Given the description of an element on the screen output the (x, y) to click on. 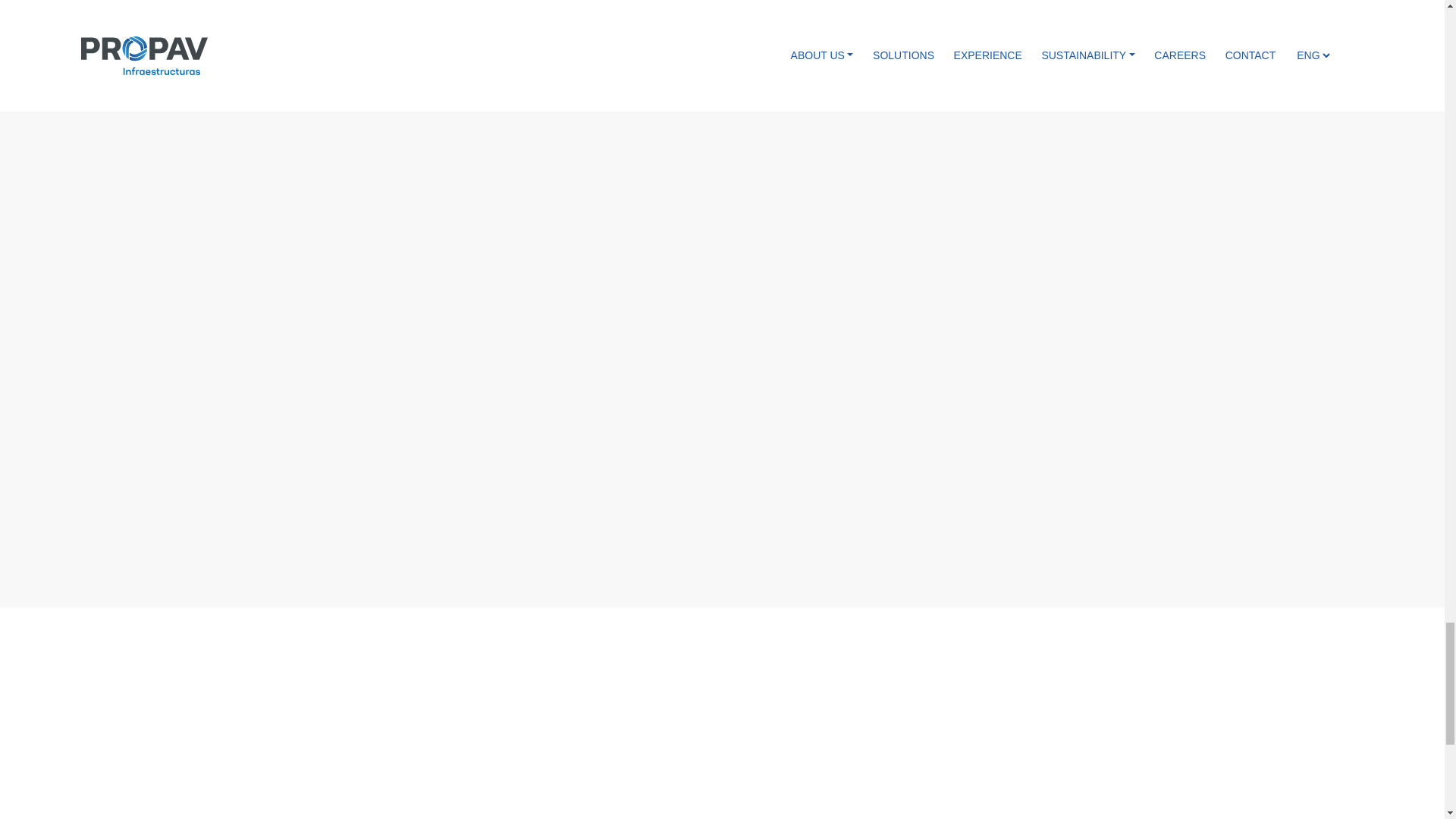
OUR EXPERIENCE (969, 749)
OUR MISSION, VISION AND PRINCIPLES (472, 749)
